Given the description of an element on the screen output the (x, y) to click on. 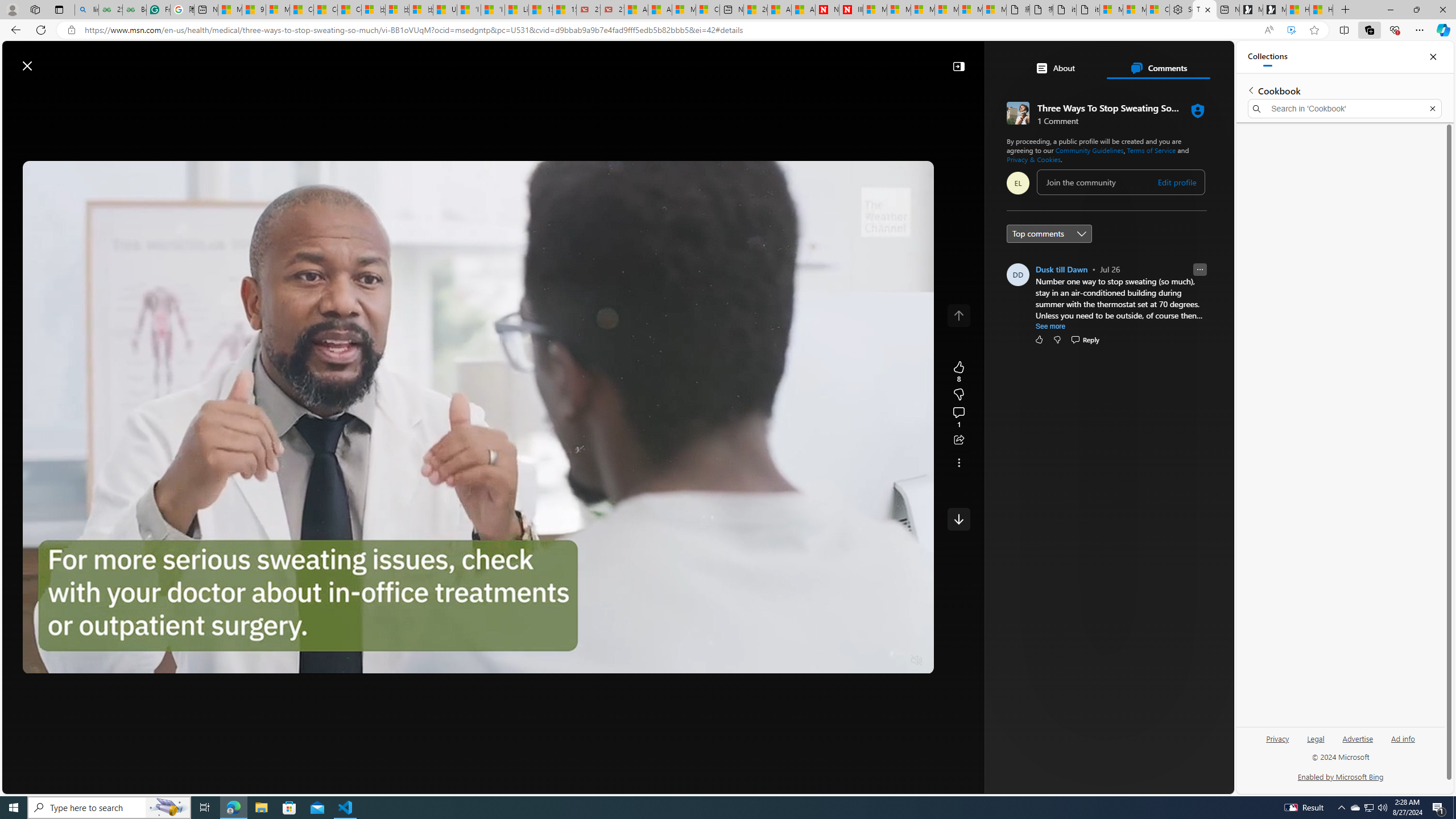
21 Movies That Outdid the Books They Were Based On (611, 9)
Seek Back (62, 660)
Quality Settings (849, 660)
8 Like (958, 371)
Illness news & latest pictures from Newsweek.com (850, 9)
